Given the description of an element on the screen output the (x, y) to click on. 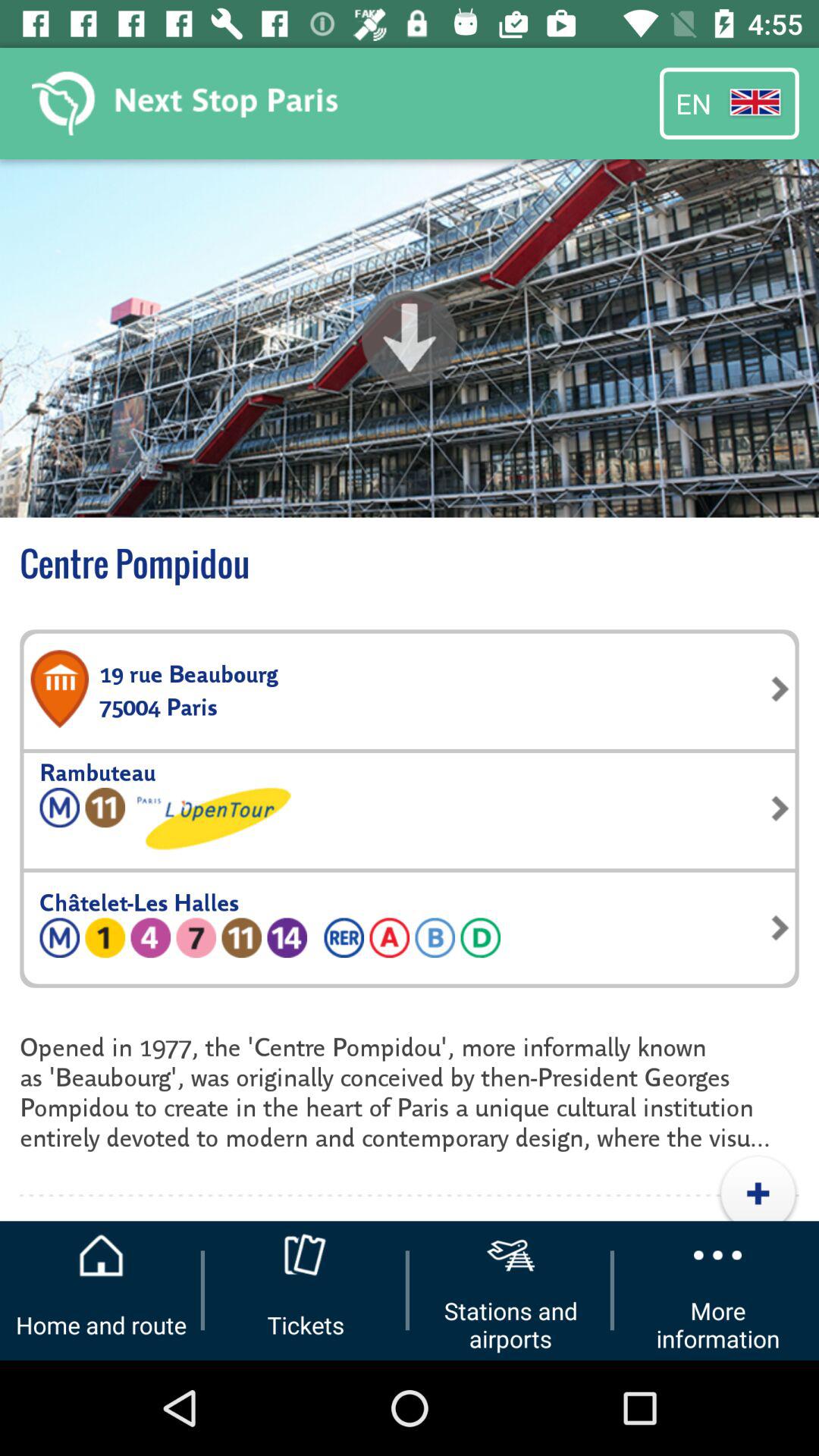
swipe until the opened in 1977 (409, 1090)
